Given the description of an element on the screen output the (x, y) to click on. 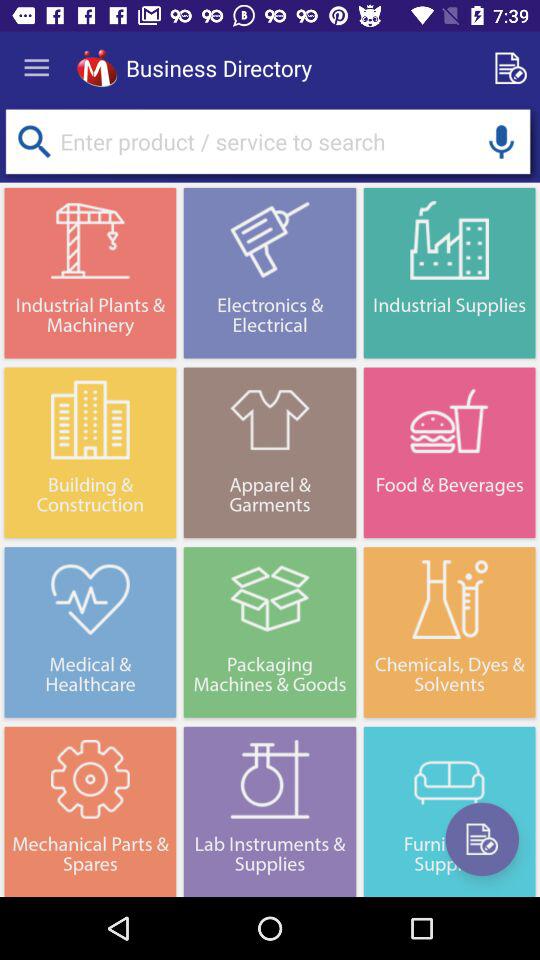
copy page link (514, 68)
